Given the description of an element on the screen output the (x, y) to click on. 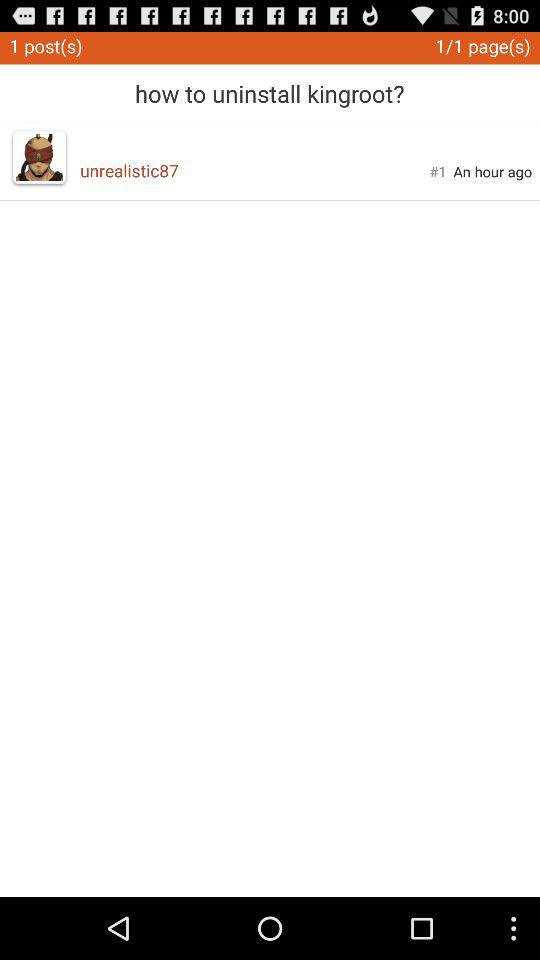
open app above unrealistic87 icon (269, 86)
